Given the description of an element on the screen output the (x, y) to click on. 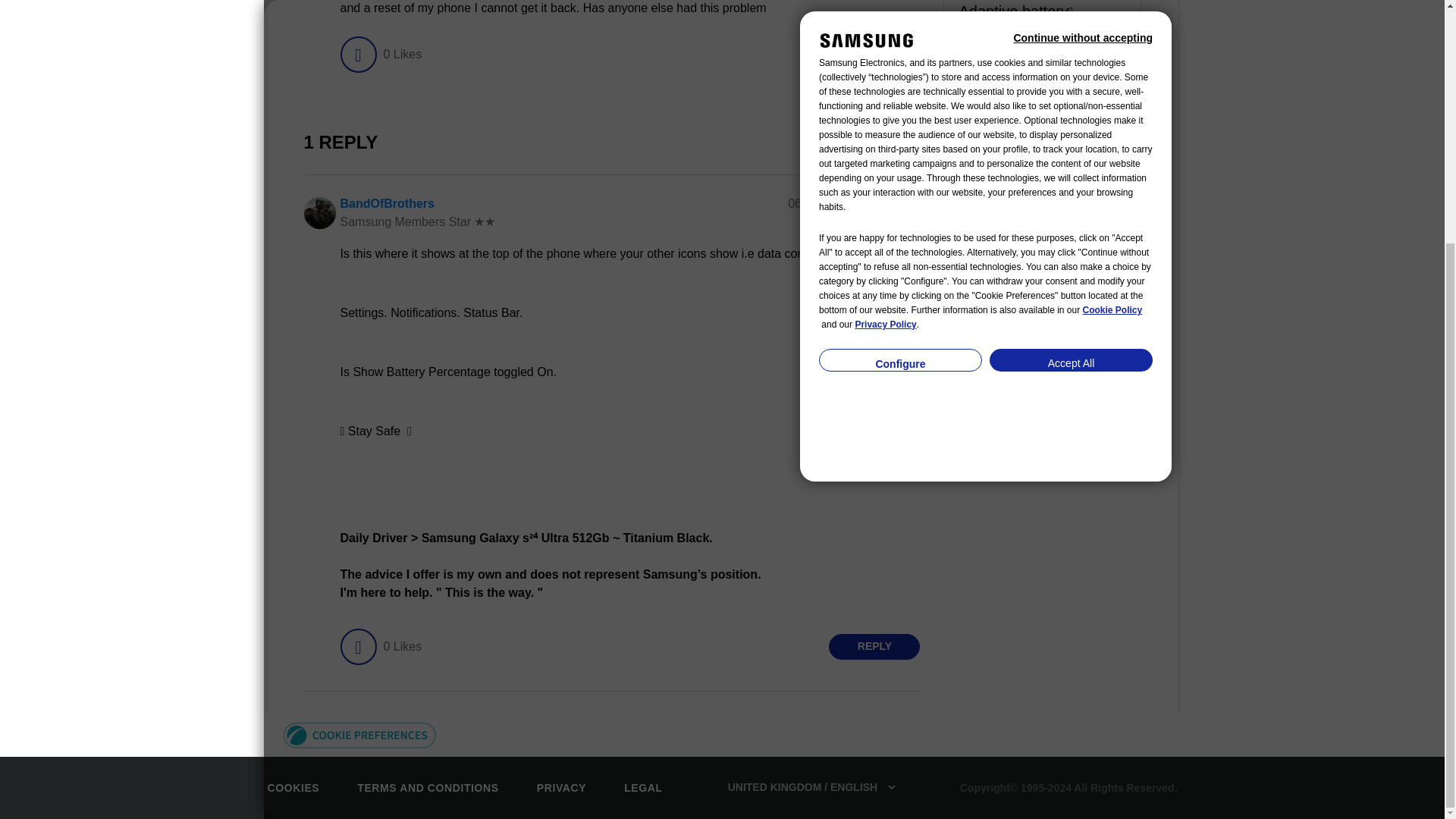
The total number of likes this post has received. (401, 54)
BandOfBrothers (386, 203)
Click here to give likes to this post. (357, 54)
REPLY (874, 54)
